Given the description of an element on the screen output the (x, y) to click on. 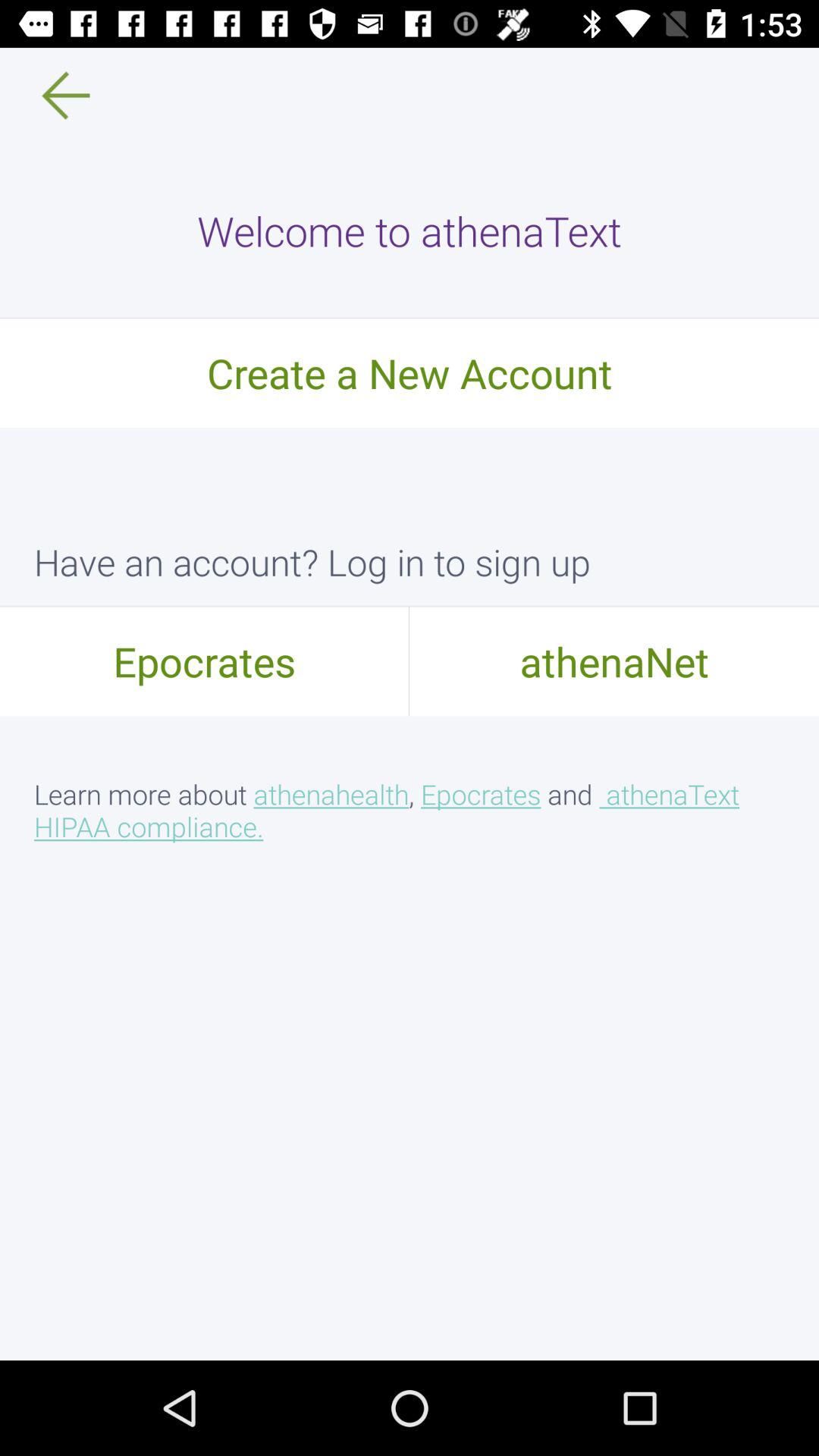
select icon below the have an account item (614, 661)
